Given the description of an element on the screen output the (x, y) to click on. 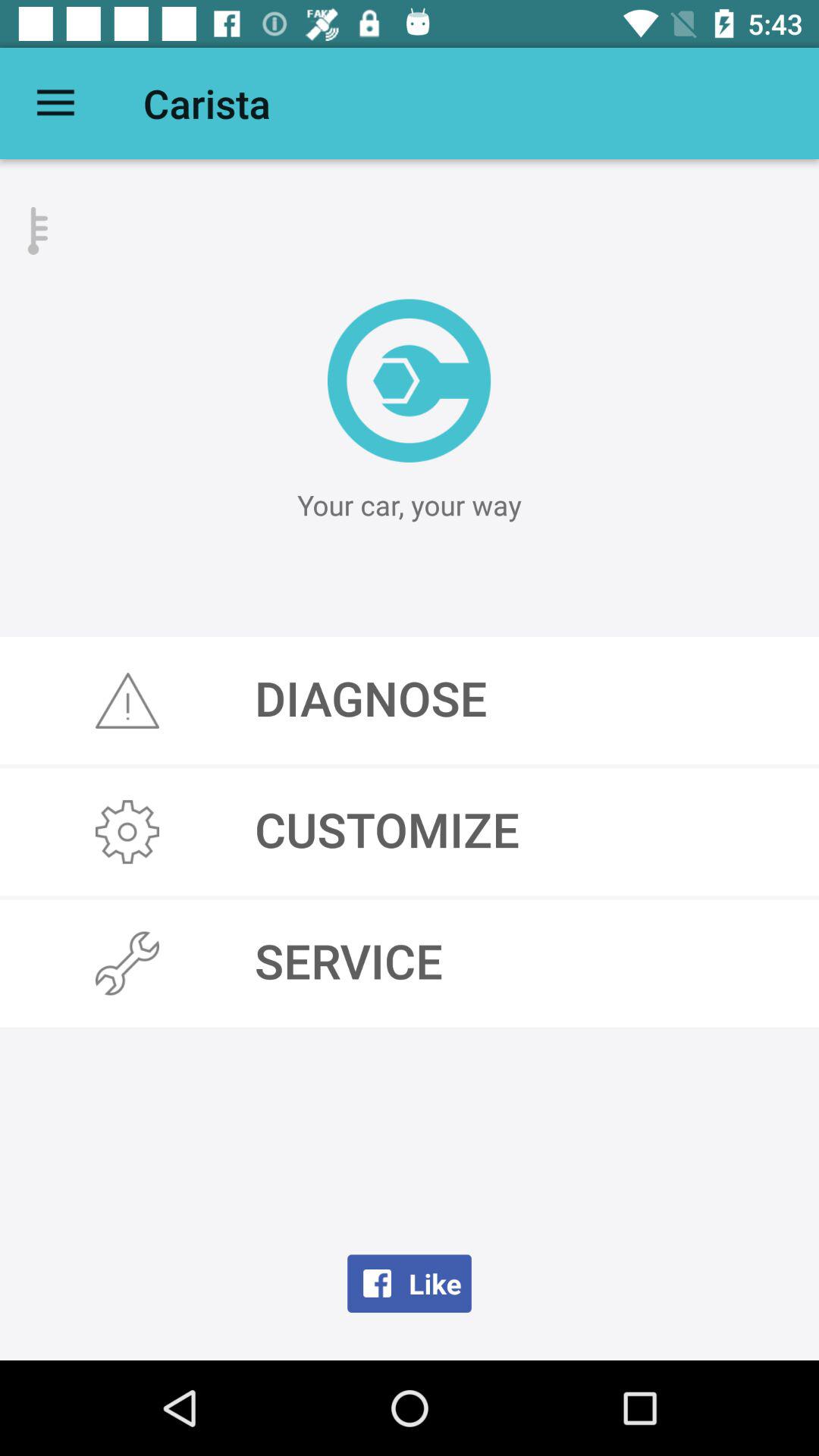
flip until diagnose (409, 700)
